Given the description of an element on the screen output the (x, y) to click on. 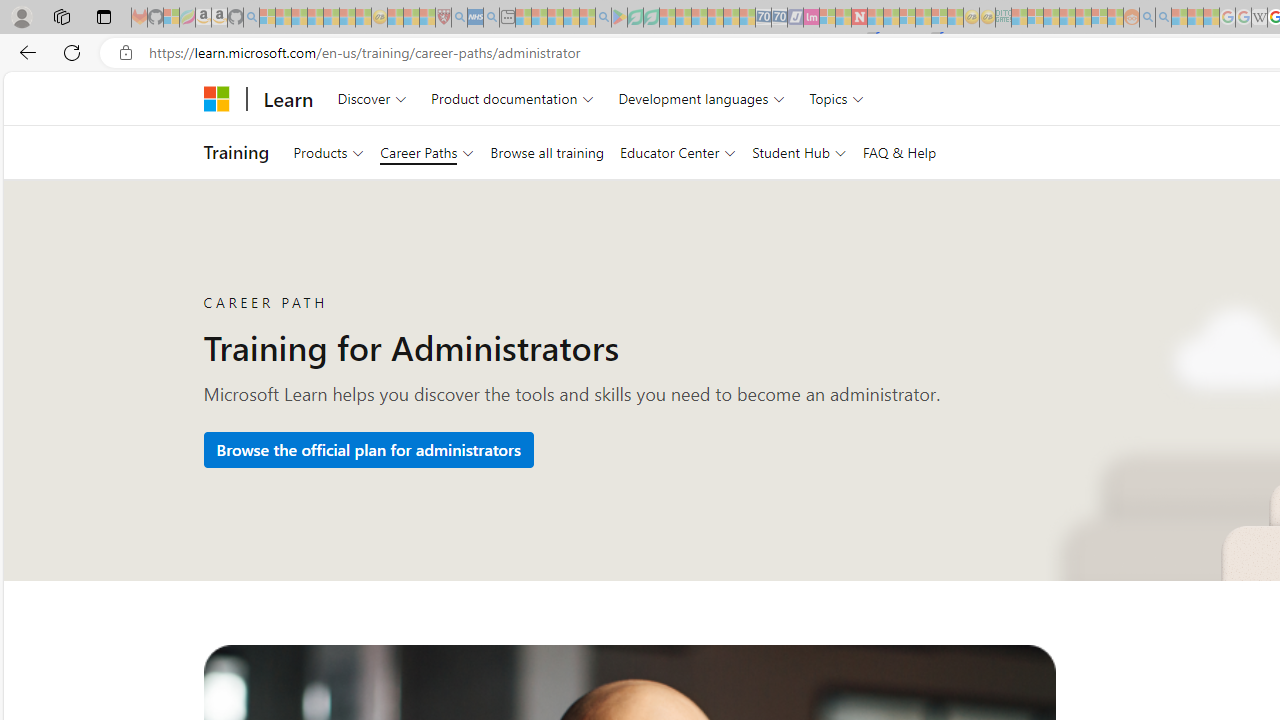
Student Hub (799, 152)
Product documentation (512, 98)
Career Paths (427, 152)
Products (328, 152)
Educator Center (677, 152)
Topics (836, 98)
